Given the description of an element on the screen output the (x, y) to click on. 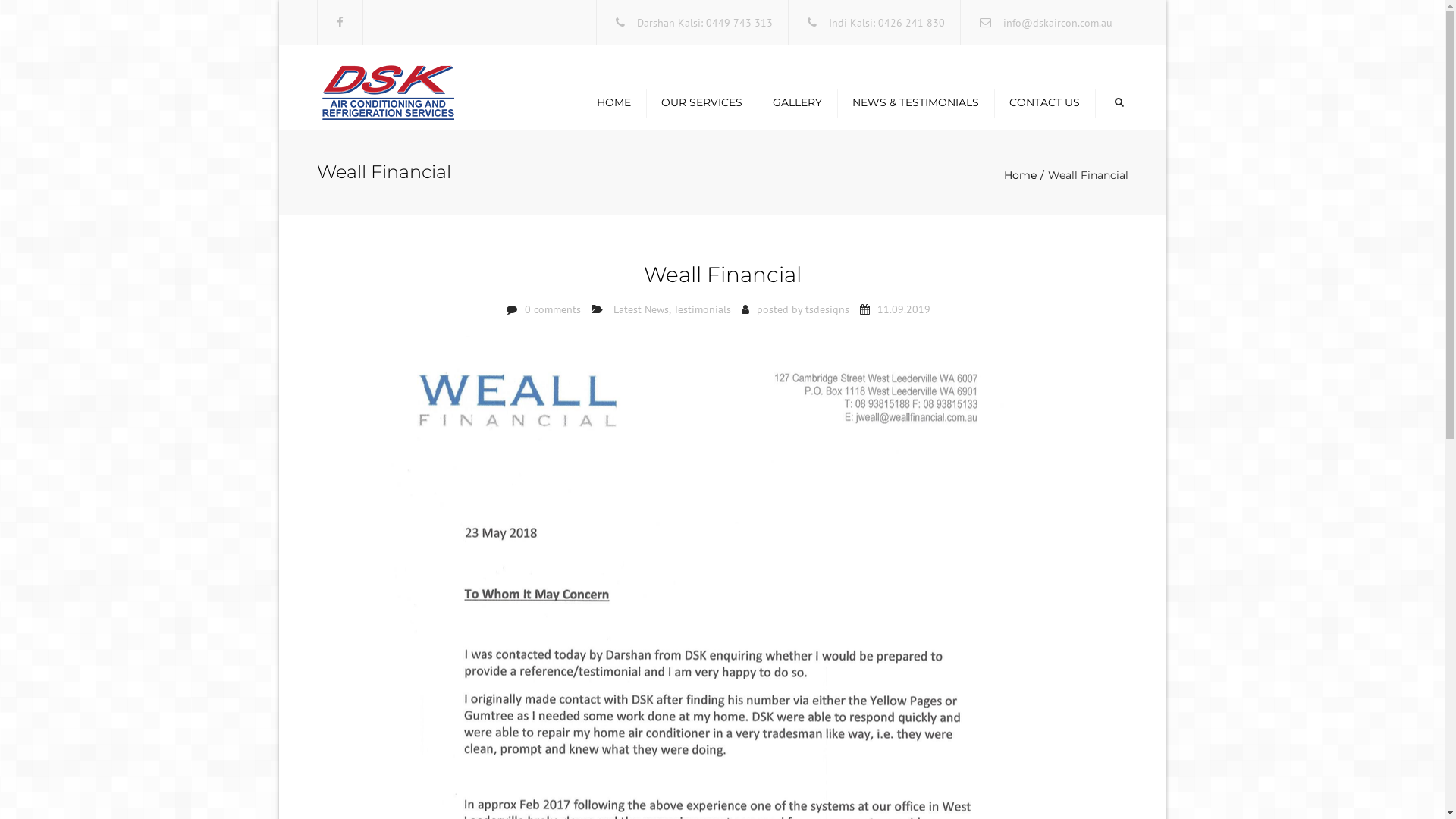
Latest News Element type: text (640, 309)
CONTACT US Element type: text (1043, 101)
Home Element type: text (1026, 175)
GALLERY Element type: text (796, 101)
NEWS & TESTIMONIALS Element type: text (915, 101)
info@dskaircon.com.au Element type: text (1056, 22)
0 comments Element type: text (552, 309)
Testimonials Element type: text (702, 309)
OUR SERVICES Element type: text (701, 101)
tsdesigns Element type: text (827, 309)
HOME Element type: text (612, 101)
